Given the description of an element on the screen output the (x, y) to click on. 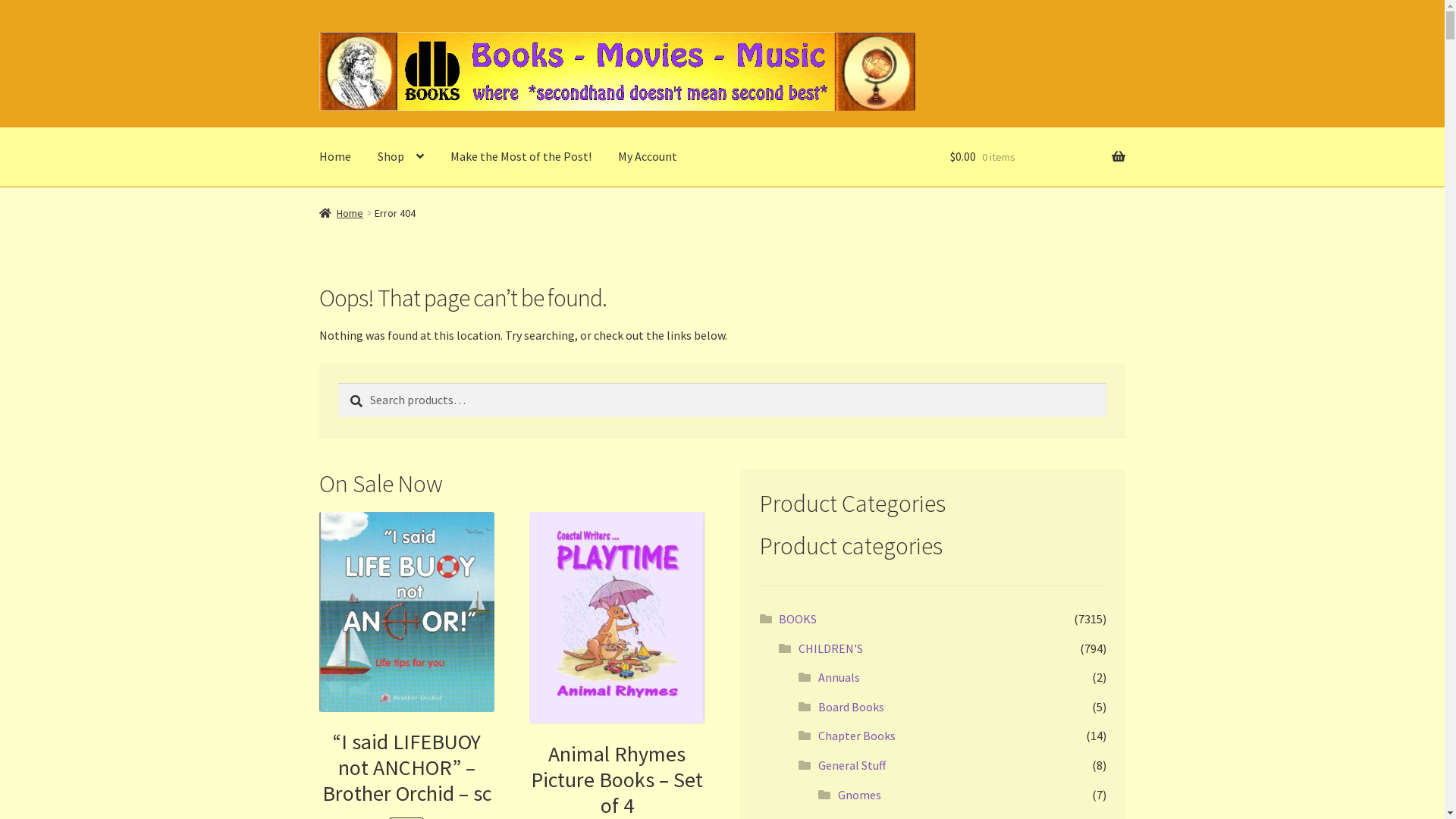
My Account Element type: text (647, 156)
Skip to navigation Element type: text (318, 31)
BOOKS Element type: text (797, 618)
Home Element type: text (341, 212)
Board Books Element type: text (851, 706)
Annuals Element type: text (838, 676)
CHILDREN'S Element type: text (830, 647)
Chapter Books Element type: text (856, 735)
Home Element type: text (335, 156)
Gnomes Element type: text (859, 794)
$0.00 0 items Element type: text (1037, 156)
Shop Element type: text (400, 156)
Make the Most of the Post! Element type: text (520, 156)
General Stuff Element type: text (851, 764)
Search Element type: text (337, 382)
